Given the description of an element on the screen output the (x, y) to click on. 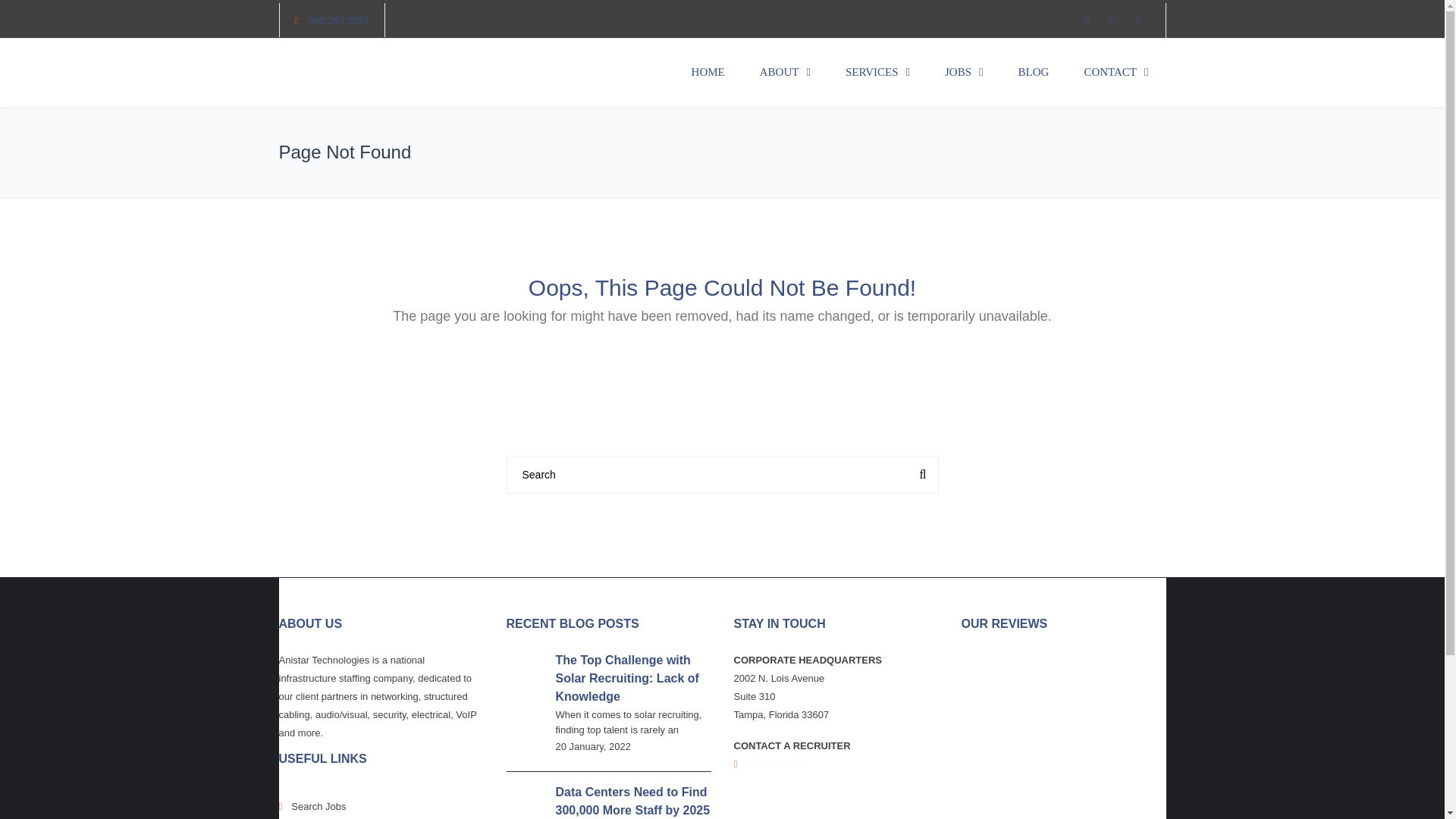
ABOUT (785, 72)
Search Jobs (381, 802)
The Top Challenge with Solar Recruiting: Lack of Knowledge (626, 677)
SERVICES (877, 72)
HOME (708, 72)
JOBS (964, 72)
800.257.5597 (338, 20)
Data Centers Need to Find 300,000 More Staff by 2025 (632, 800)
CONTACT (1115, 72)
BLOG (1034, 72)
